Given the description of an element on the screen output the (x, y) to click on. 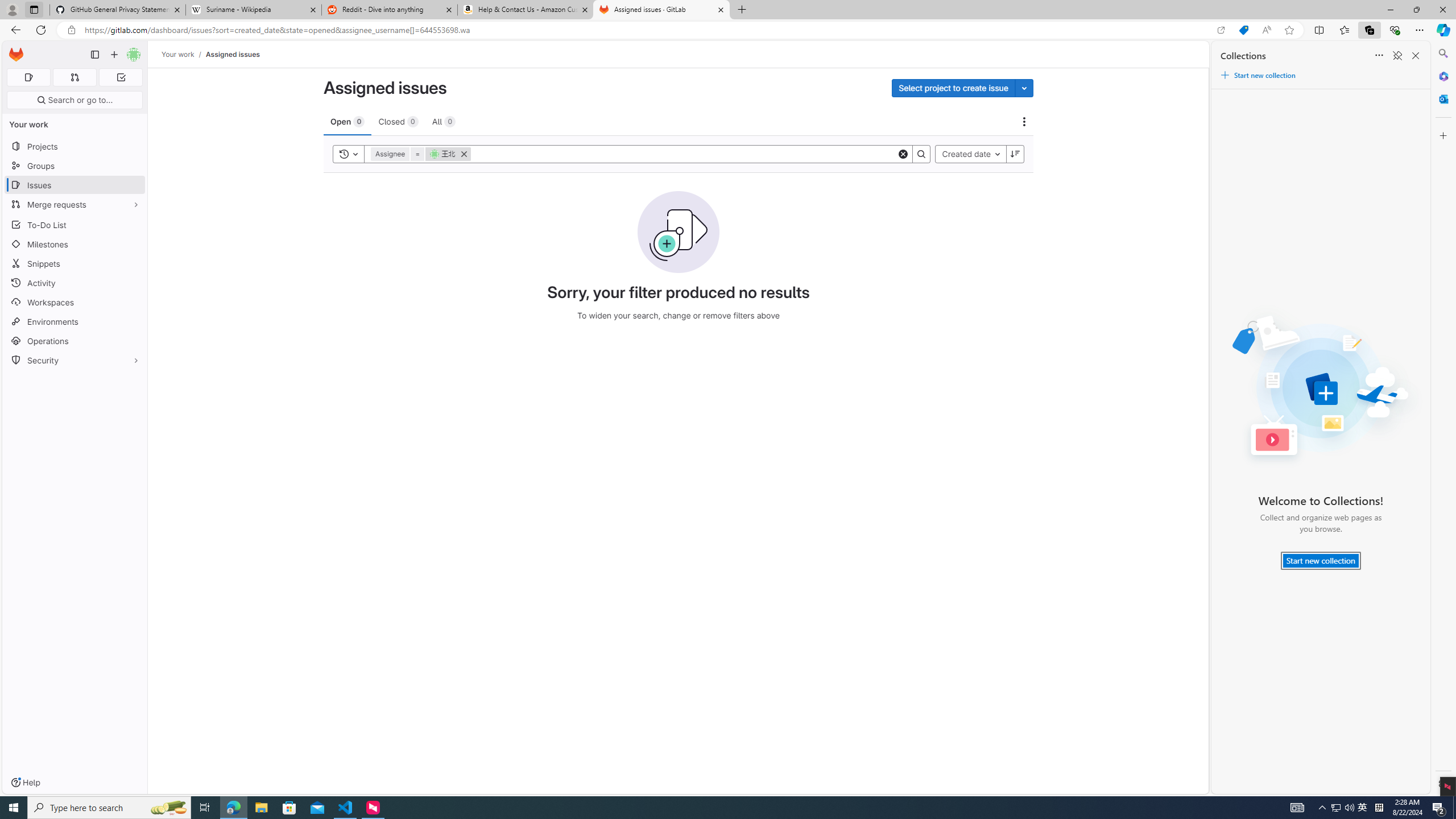
Operations (74, 340)
Reddit - Dive into anything (390, 9)
Open 0 (347, 121)
Actions (1023, 121)
Closed 0 (398, 121)
Toggle project select (1023, 87)
Environments (74, 321)
Issues (74, 185)
Toggle history (348, 153)
Sort direction: Descending (1015, 153)
Projects (74, 145)
